Given the description of an element on the screen output the (x, y) to click on. 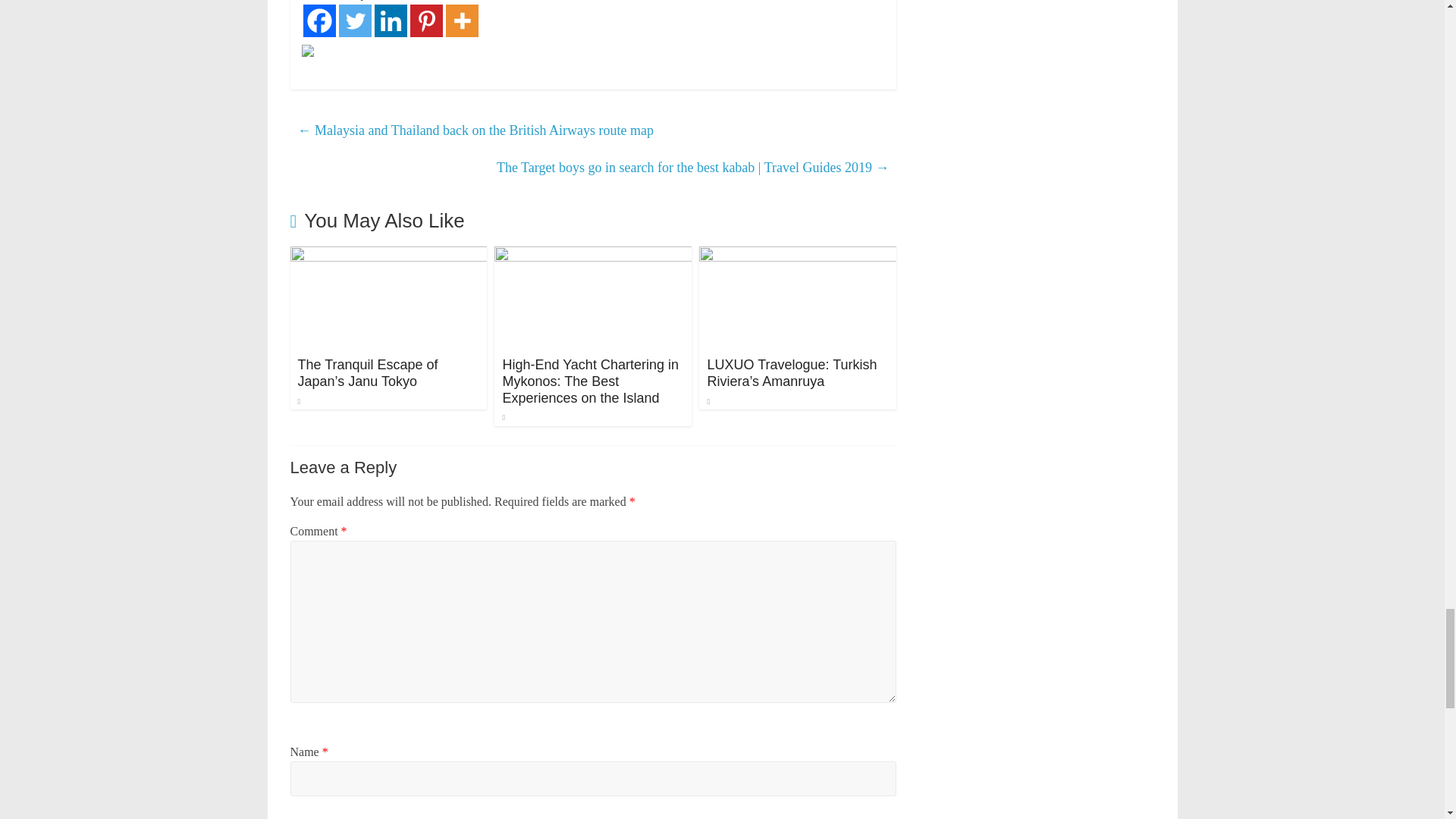
Pinterest (425, 20)
More (462, 20)
Linkedin (390, 20)
Twitter (354, 20)
Facebook (319, 20)
